Given the description of an element on the screen output the (x, y) to click on. 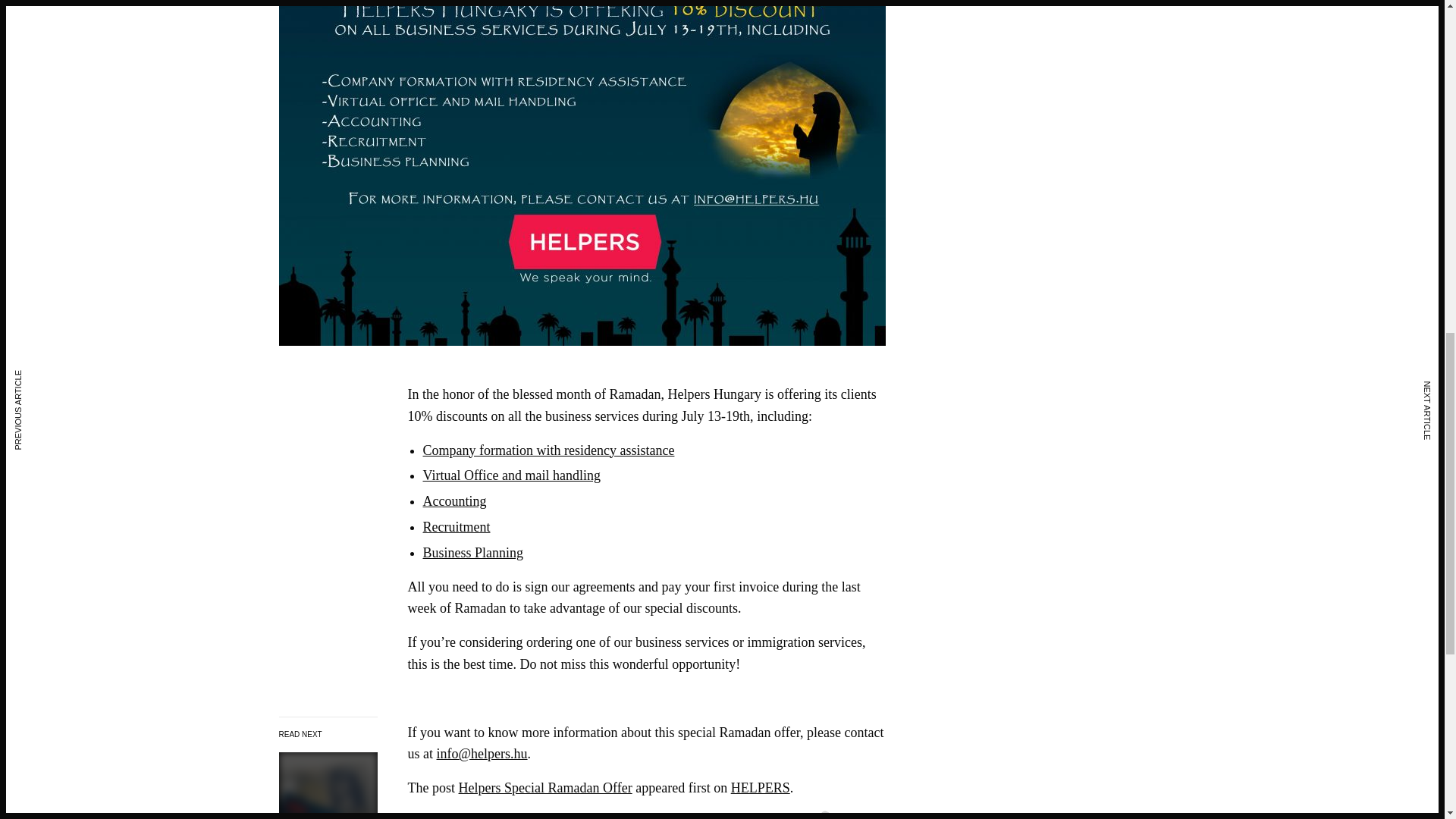
Accounting (454, 500)
Company formation with residency assistance (549, 450)
Business Planning (473, 552)
Virtual Office and mail handling (512, 475)
Helpers Special Ramadan Offer (544, 787)
Recruitment (456, 526)
HELPERS (760, 787)
